Given the description of an element on the screen output the (x, y) to click on. 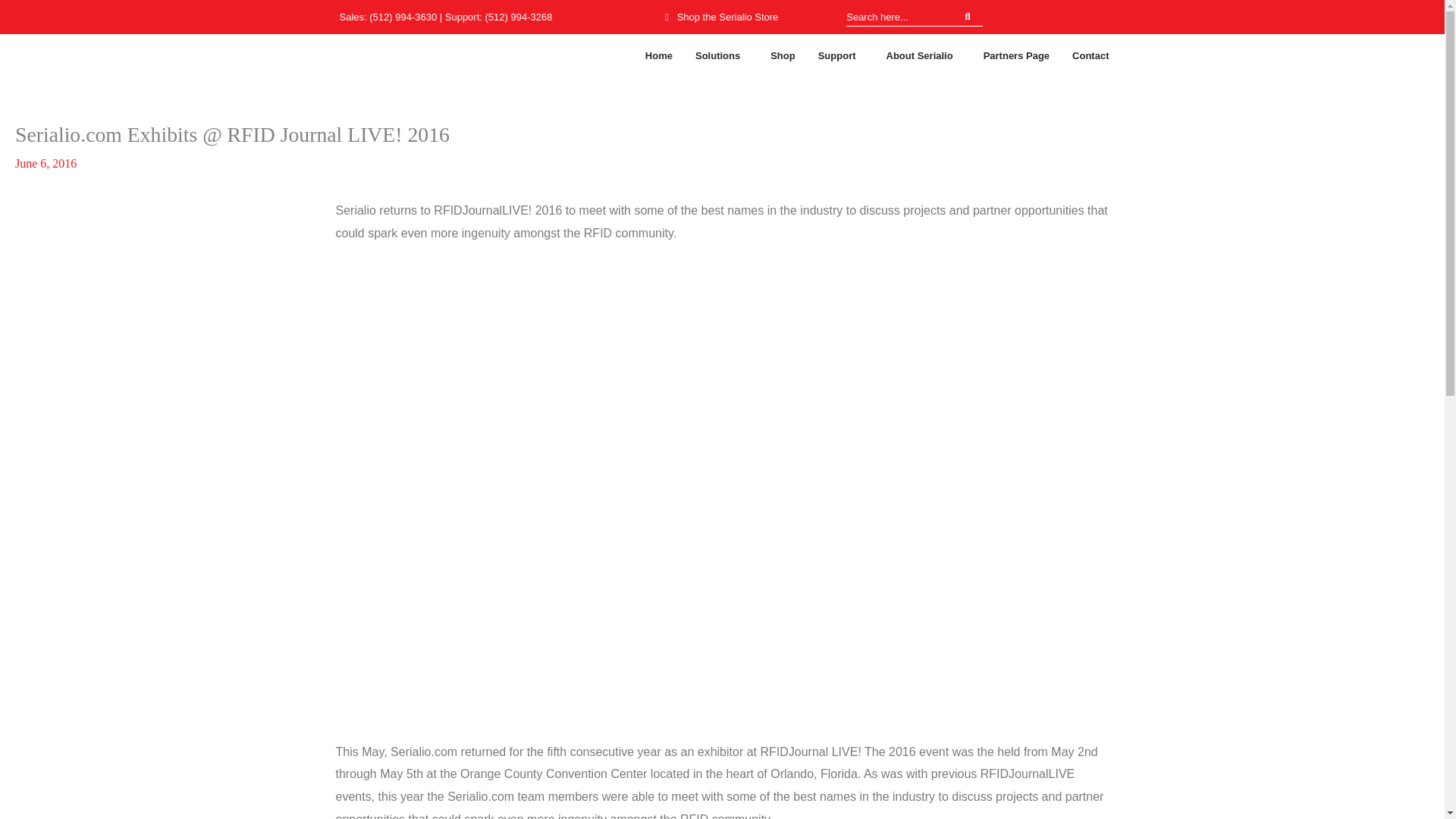
Contact (1089, 54)
Shop the Serialio Store (719, 16)
Solutions (721, 54)
Partners Page (1016, 54)
Search (898, 16)
About Serialio (923, 54)
Shop (782, 54)
Home (658, 54)
Support (840, 54)
